Given the description of an element on the screen output the (x, y) to click on. 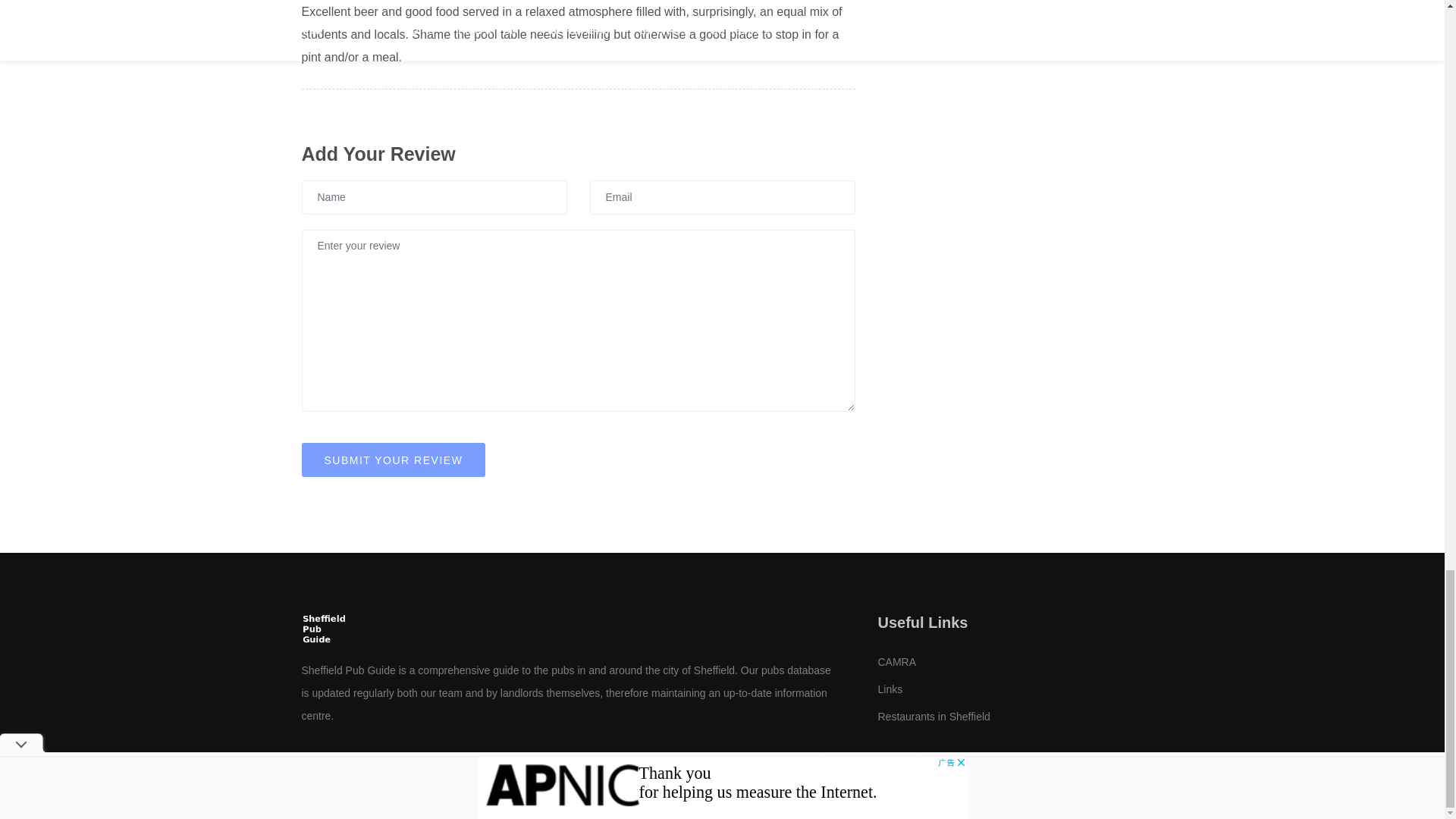
Privacy policy (636, 792)
Restaurants in Sheffield (933, 716)
Links (889, 689)
CAMRA (897, 662)
Sitemap (694, 792)
SUBMIT YOUR REVIEW (393, 459)
